Given the description of an element on the screen output the (x, y) to click on. 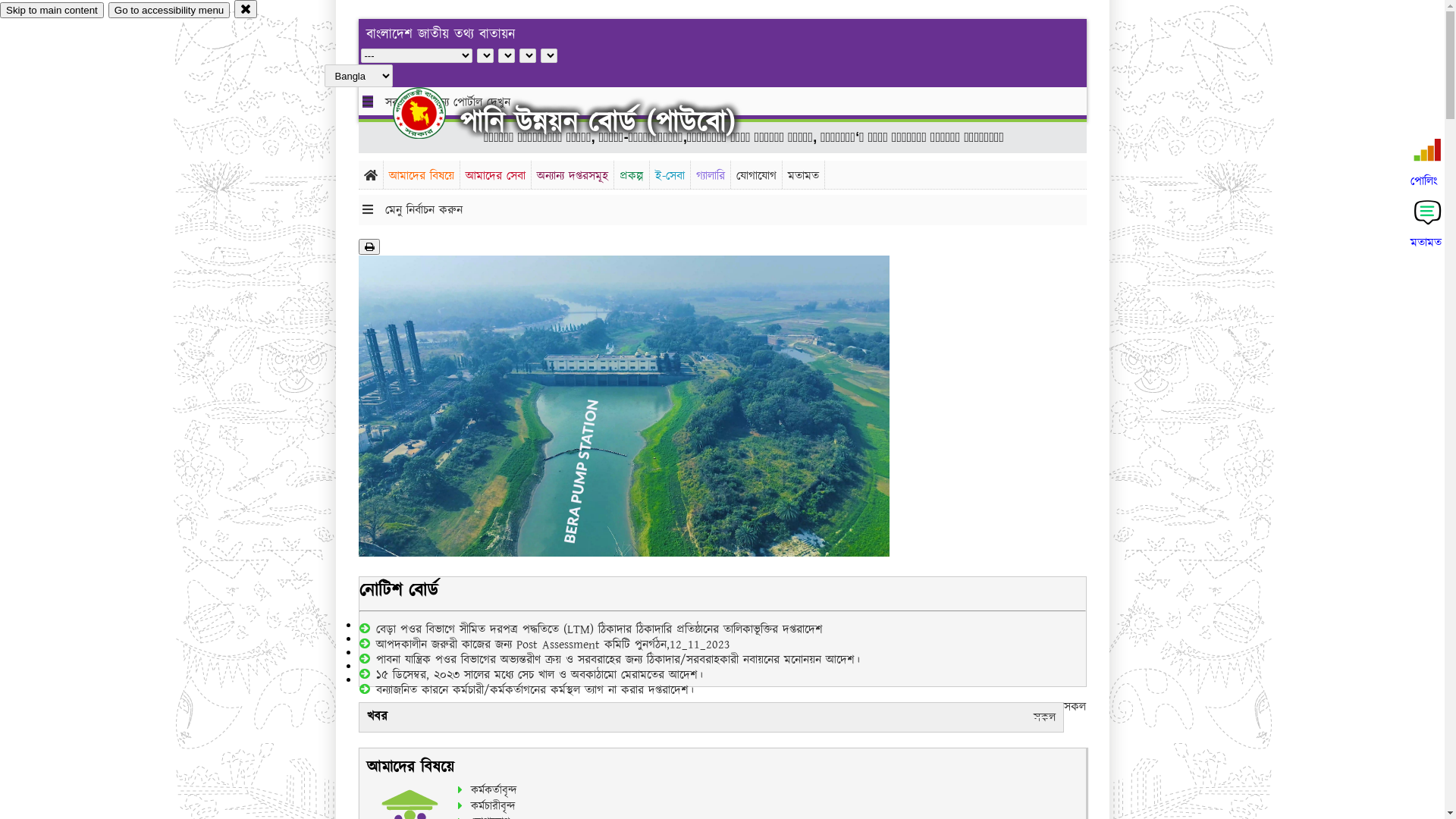
close Element type: hover (245, 9)
Skip to main content Element type: text (51, 10)
Go to accessibility menu Element type: text (168, 10)

                
             Element type: hover (431, 112)
